Given the description of an element on the screen output the (x, y) to click on. 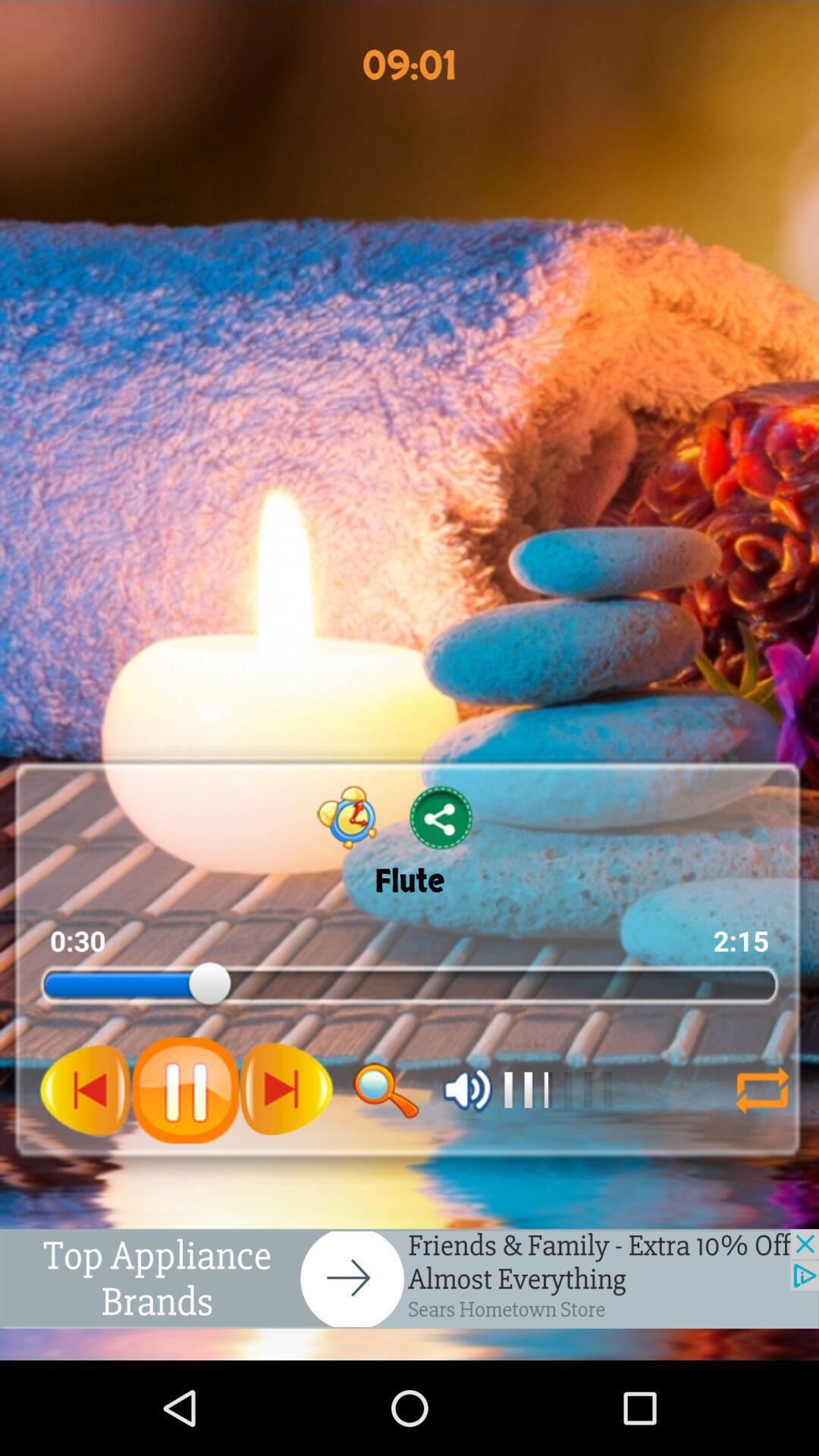
go to start (85, 1090)
